Given the description of an element on the screen output the (x, y) to click on. 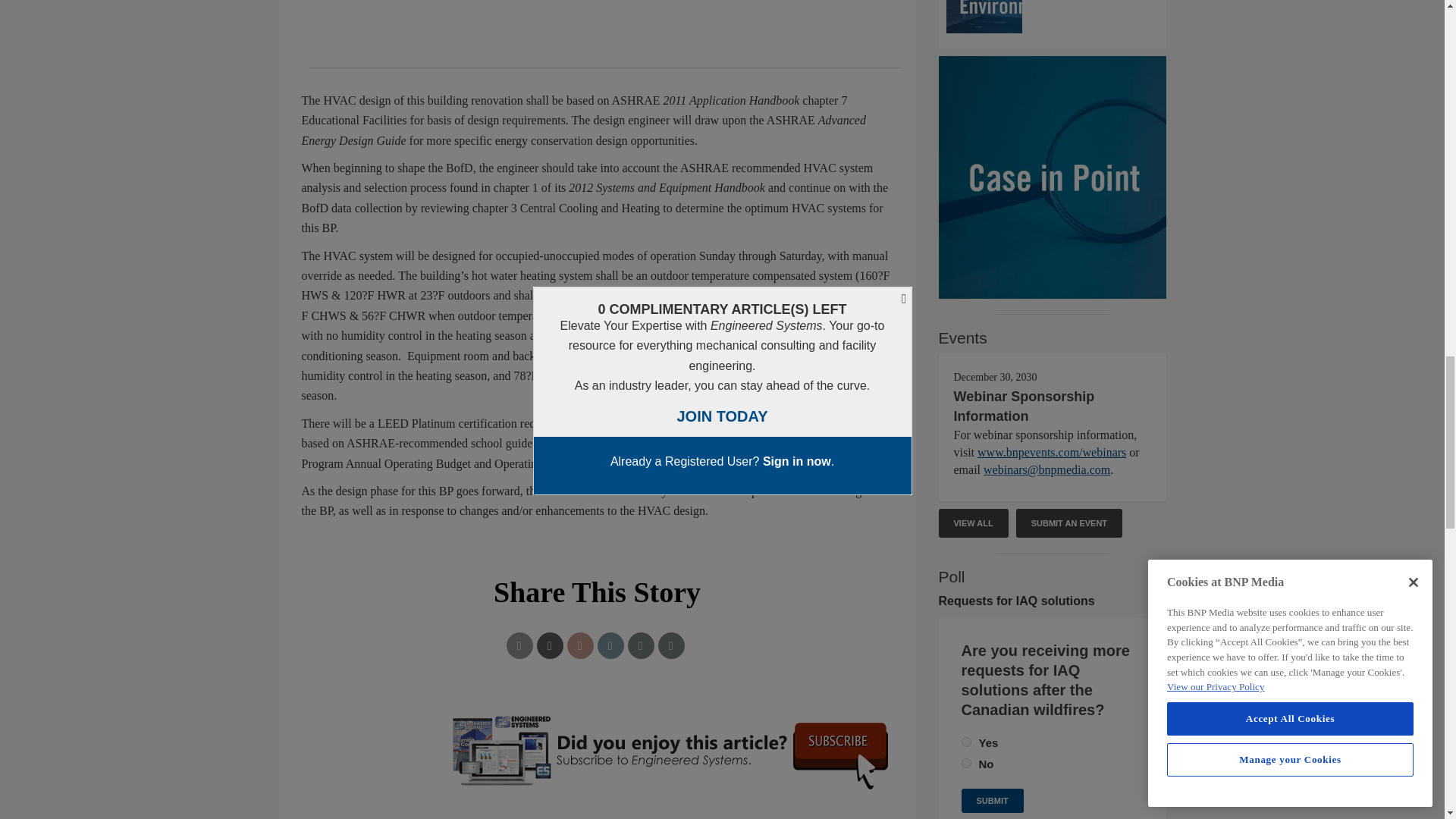
195 (965, 763)
Webinar Sponsorship Information (1023, 406)
Submit (991, 800)
196 (965, 741)
Chilled Water Cooling Load Diversity (1052, 16)
